Given the description of an element on the screen output the (x, y) to click on. 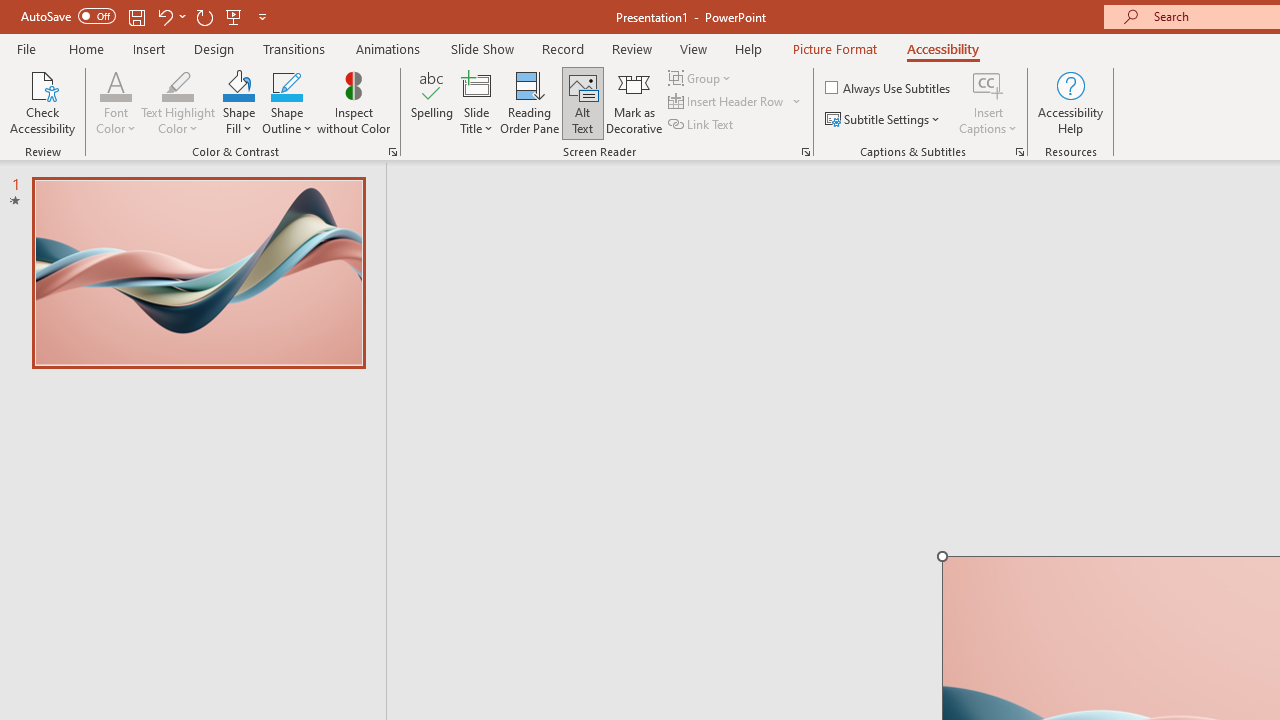
Picture Format (834, 48)
Mark as Decorative (634, 102)
Link Text (702, 124)
